Given the description of an element on the screen output the (x, y) to click on. 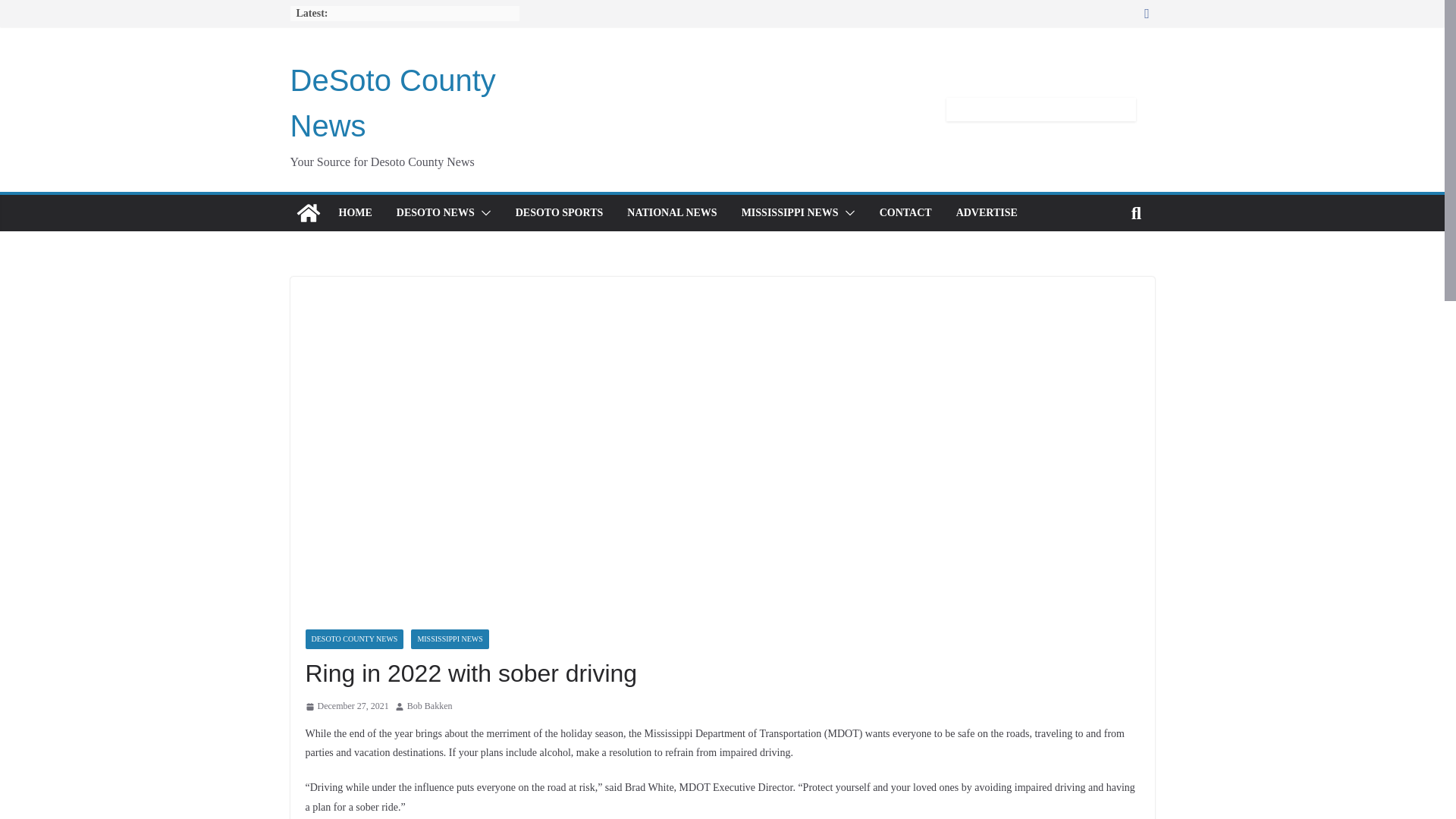
DeSoto County News (307, 212)
DESOTO NEWS (435, 212)
4:39 pm (346, 706)
MISSISSIPPI NEWS (448, 639)
ADVERTISE (986, 212)
MISSISSIPPI NEWS (789, 212)
DeSoto County News (392, 102)
CONTACT (905, 212)
DESOTO SPORTS (559, 212)
Bob Bakken (429, 706)
